Given the description of an element on the screen output the (x, y) to click on. 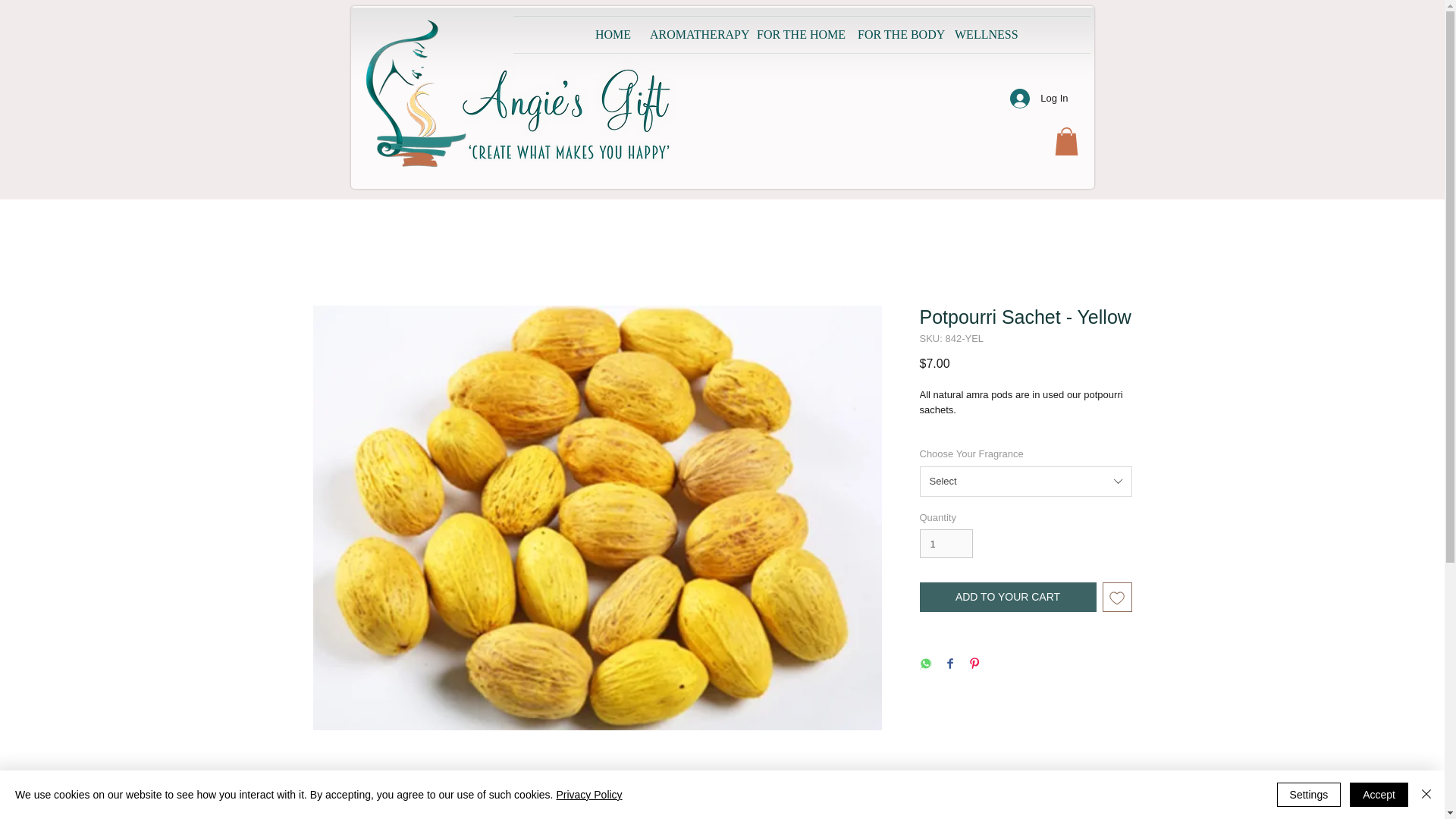
FOR THE HOME (795, 34)
Select (1024, 481)
1 (945, 543)
Privacy Policy (588, 794)
Log In (1038, 98)
Settings (1308, 794)
HOME (611, 34)
ADD TO YOUR CART (1007, 596)
WELLNESS (981, 34)
FOR THE BODY (894, 34)
